Given the description of an element on the screen output the (x, y) to click on. 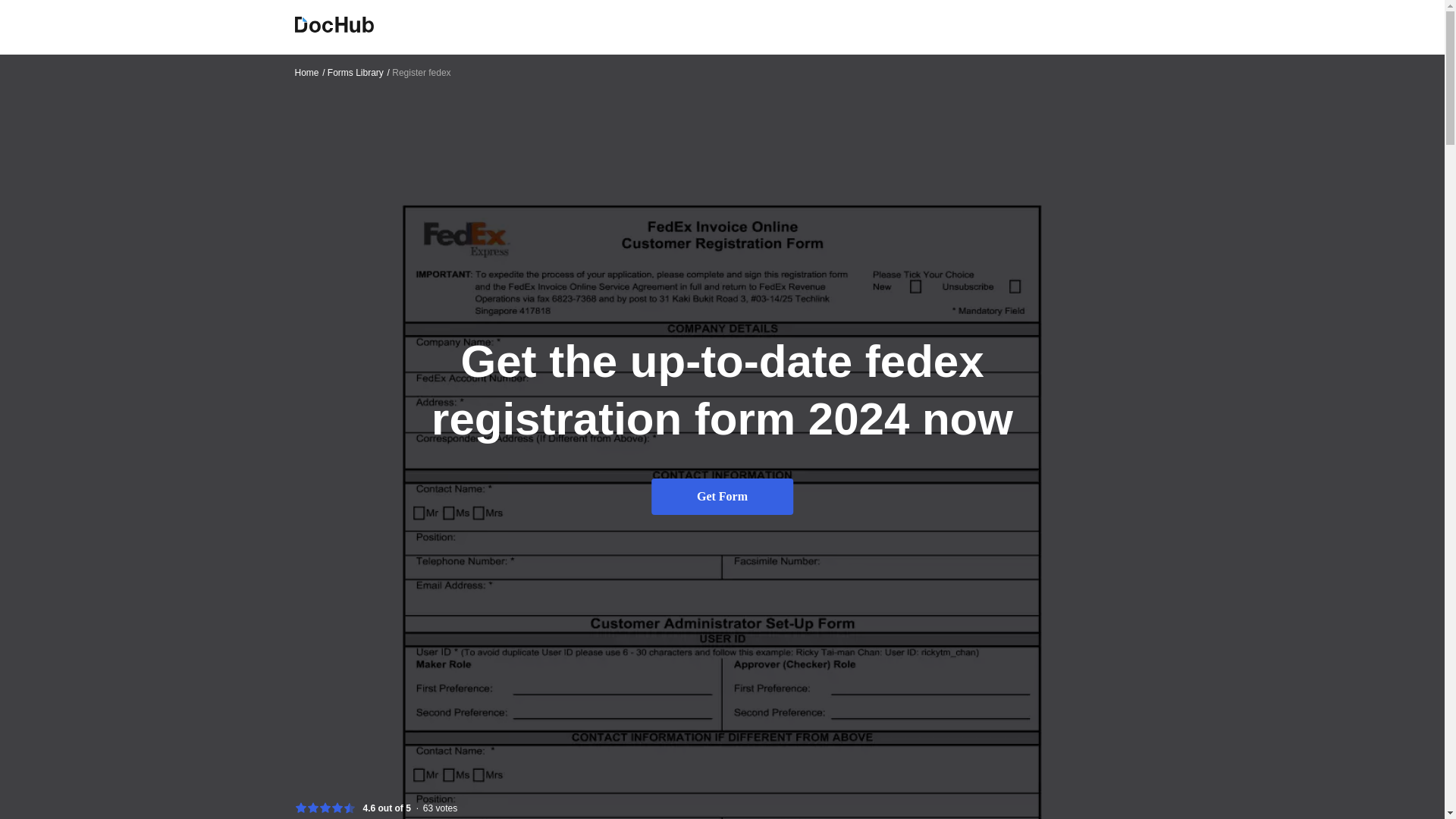
Forms Library (358, 72)
Home (722, 436)
